Given the description of an element on the screen output the (x, y) to click on. 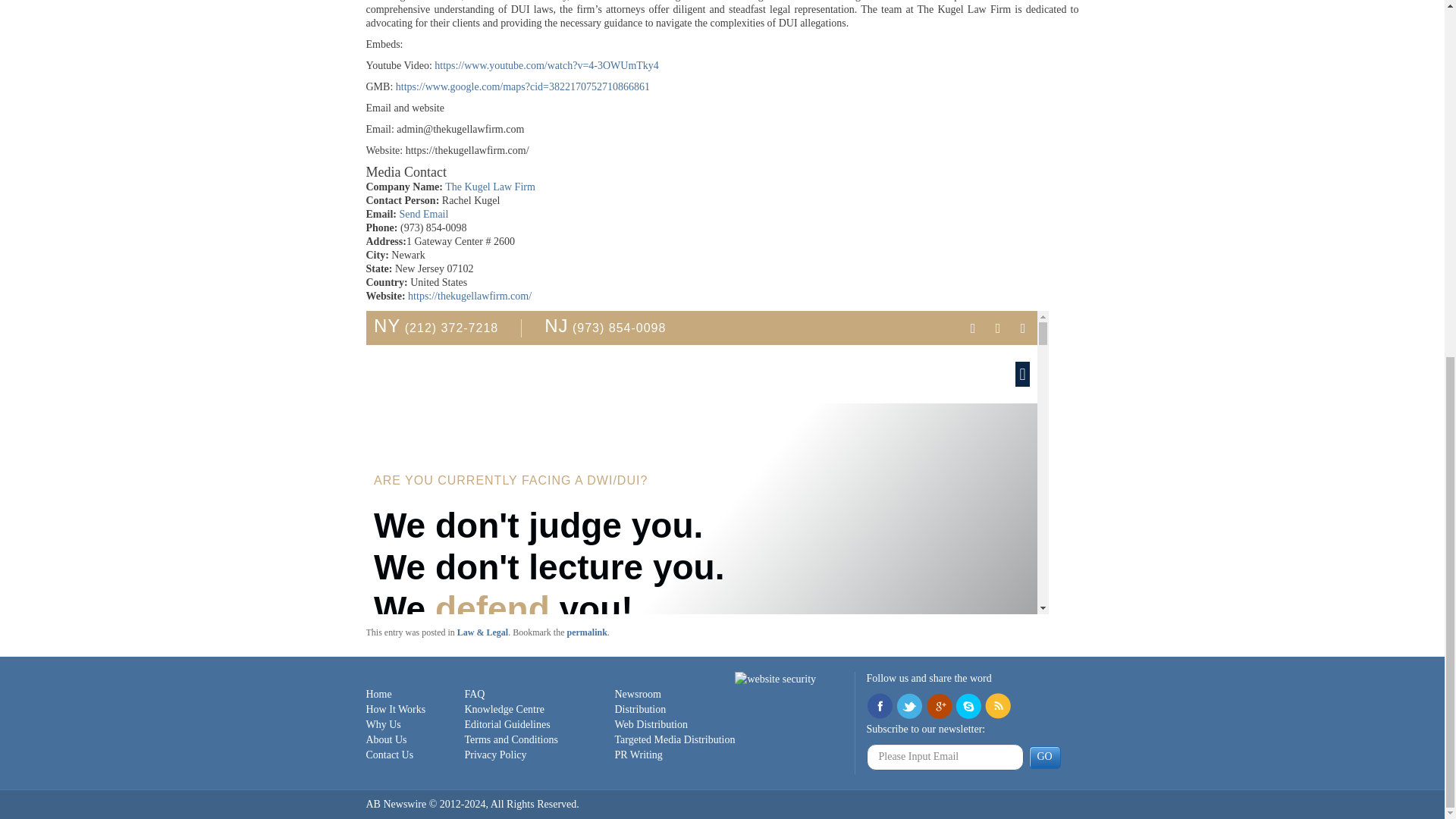
Please Input Email (944, 756)
GO (1043, 757)
SiteLock (775, 679)
